Given the description of an element on the screen output the (x, y) to click on. 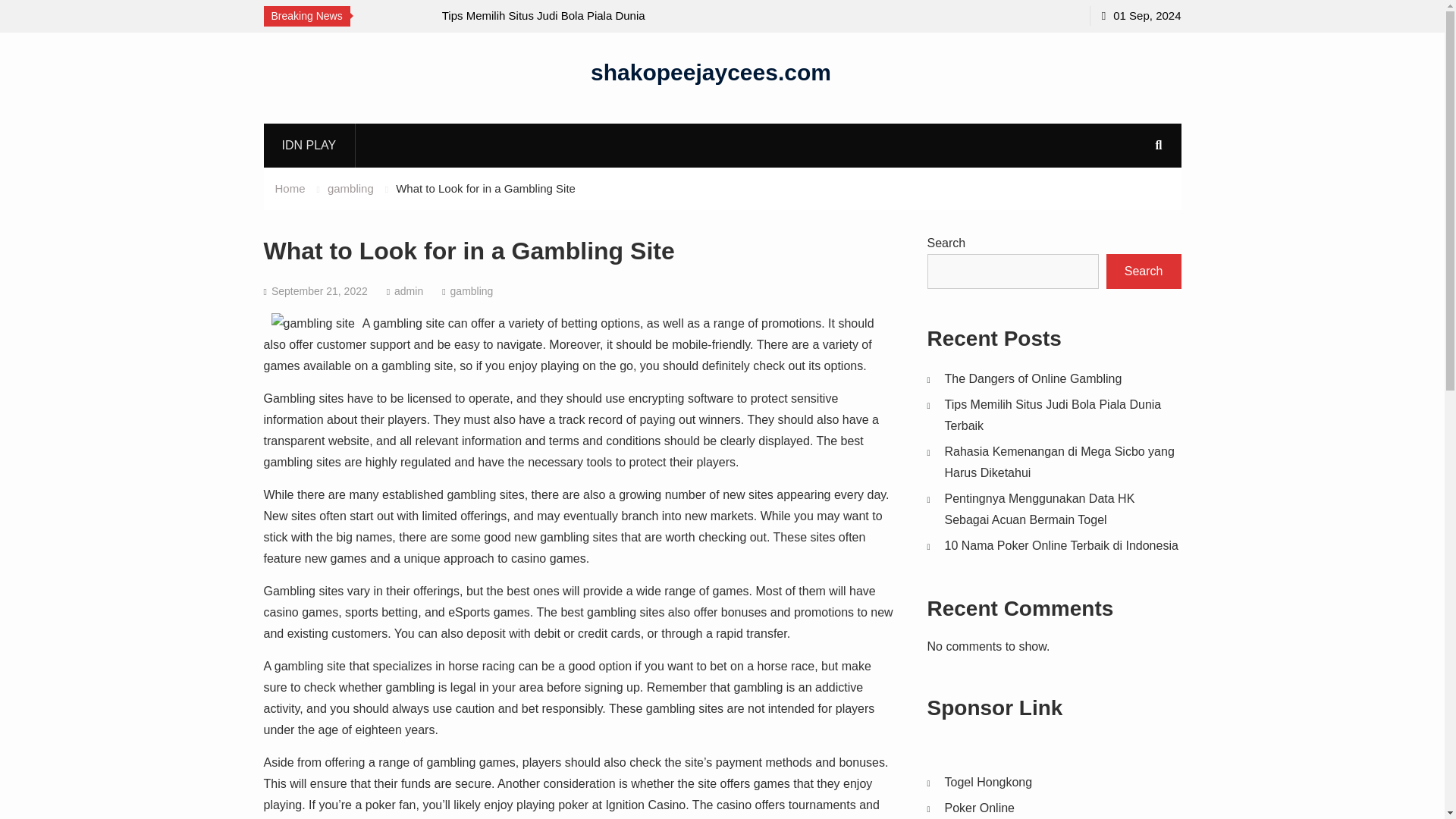
shakopeejaycees.com (711, 71)
Rahasia Kemenangan di Mega Sicbo yang Harus Diketahui (1059, 462)
gambling (350, 187)
Tips Memilih Situs Judi Bola Piala Dunia Terbaik (1052, 415)
10 Nama Poker Online Terbaik di Indonesia (1060, 545)
Poker Online (979, 807)
gambling (471, 291)
The Dangers of Online Gambling (1033, 378)
Pentingnya Menggunakan Data HK Sebagai Acuan Bermain Togel (1039, 509)
Home (289, 187)
